Given the description of an element on the screen output the (x, y) to click on. 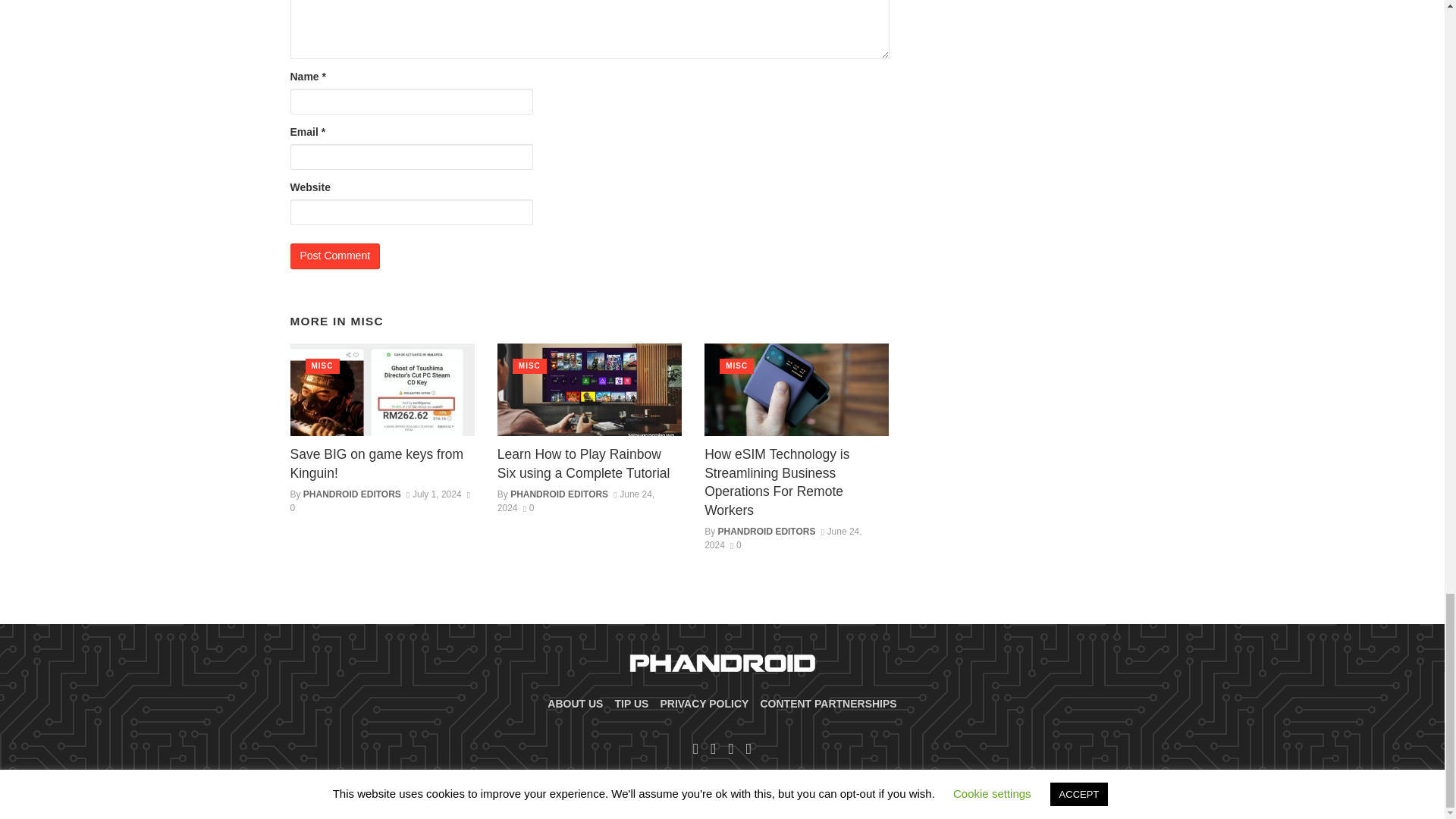
Post Comment (334, 256)
